Given the description of an element on the screen output the (x, y) to click on. 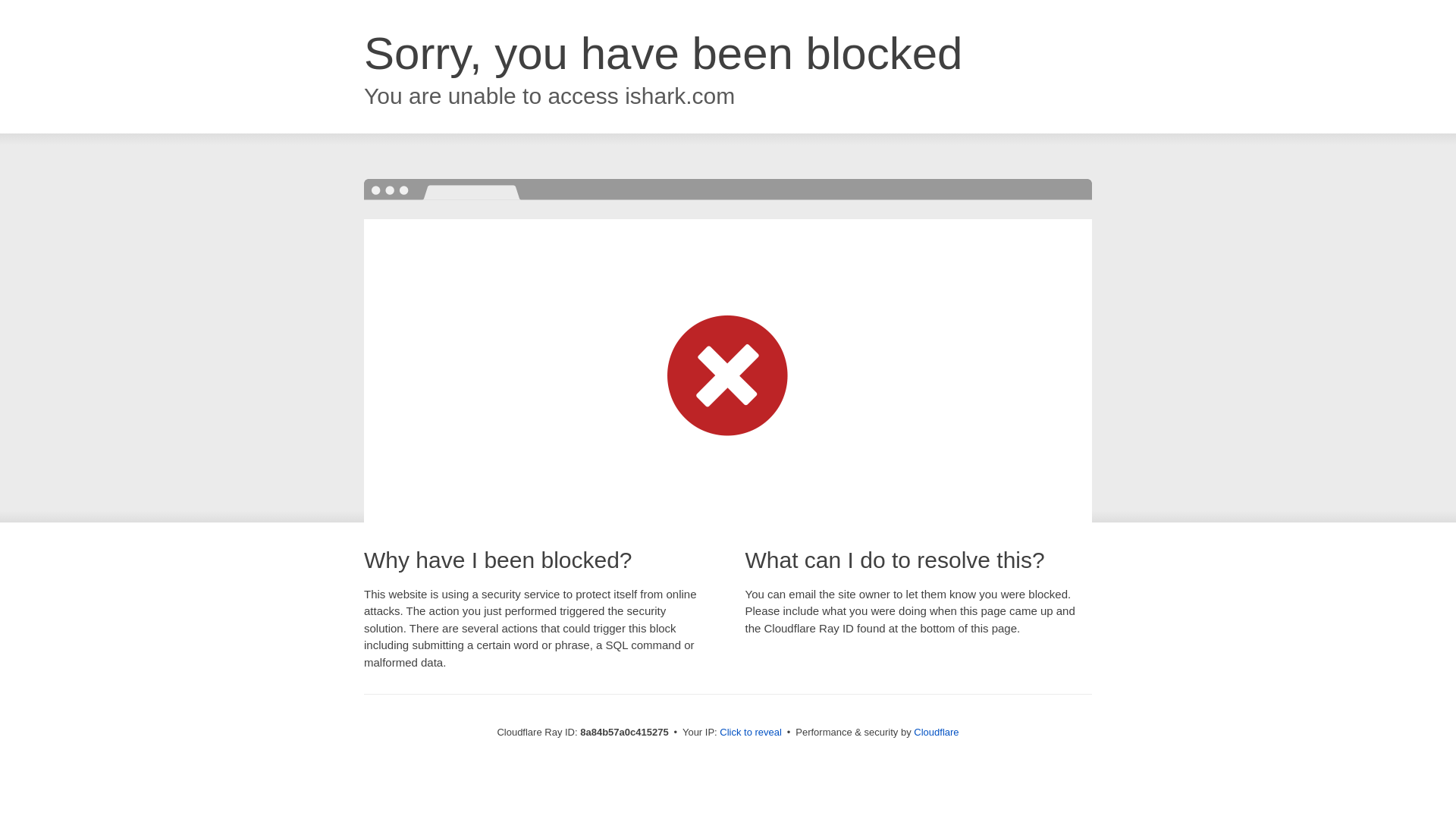
Click to reveal (750, 732)
Cloudflare (936, 731)
